Given the description of an element on the screen output the (x, y) to click on. 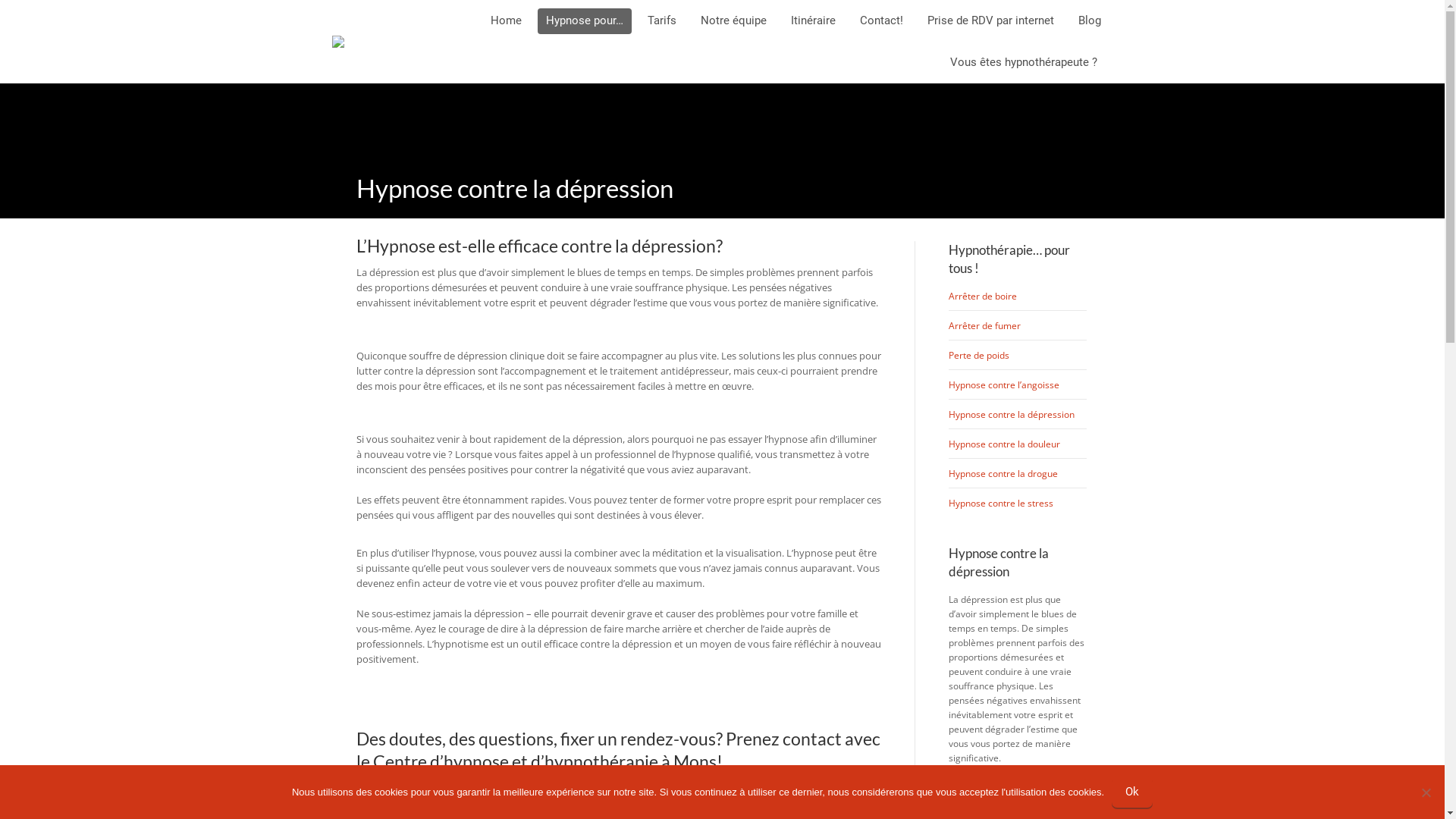
Blog Element type: text (1088, 20)
Contact! Element type: text (880, 20)
Hypnose contre la drogue Element type: text (1002, 473)
Prise de RDV par internet Element type: text (990, 20)
Ok Element type: text (1131, 791)
Home Element type: text (506, 20)
Hypnose contre le stress Element type: text (1000, 502)
envoyant un email Element type: text (716, 802)
contacter Element type: text (817, 787)
Perte de poids Element type: text (978, 355)
Tarifs Element type: text (661, 20)
No Element type: hover (1425, 791)
Hypnose contre la douleur Element type: text (1004, 443)
